Given the description of an element on the screen output the (x, y) to click on. 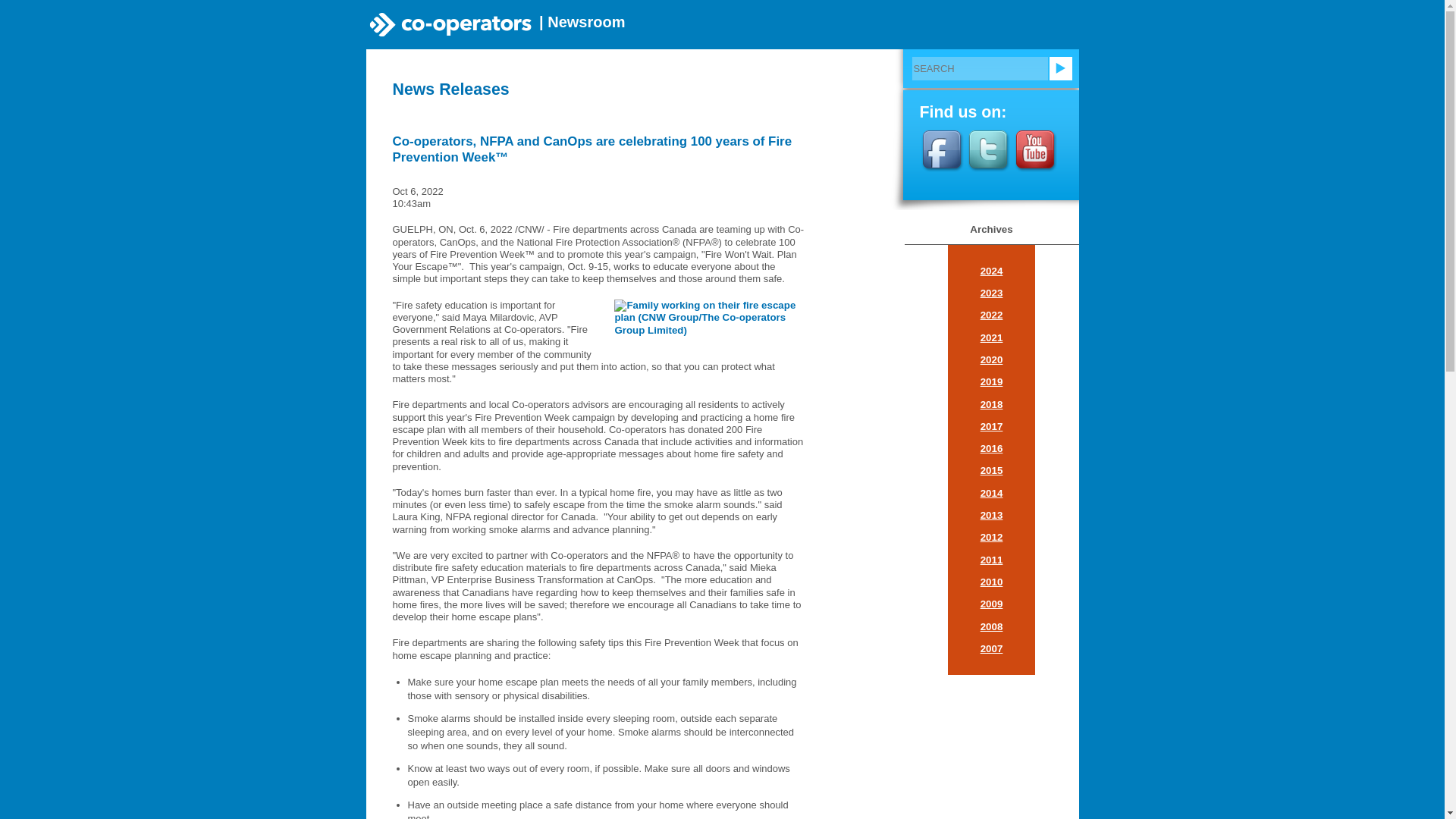
2014 (991, 492)
2022 (991, 315)
2010 (991, 582)
2021 (991, 337)
2019 (991, 381)
2024 (991, 270)
2008 (991, 626)
2009 (991, 603)
2007 (991, 648)
2020 (991, 359)
